Given the description of an element on the screen output the (x, y) to click on. 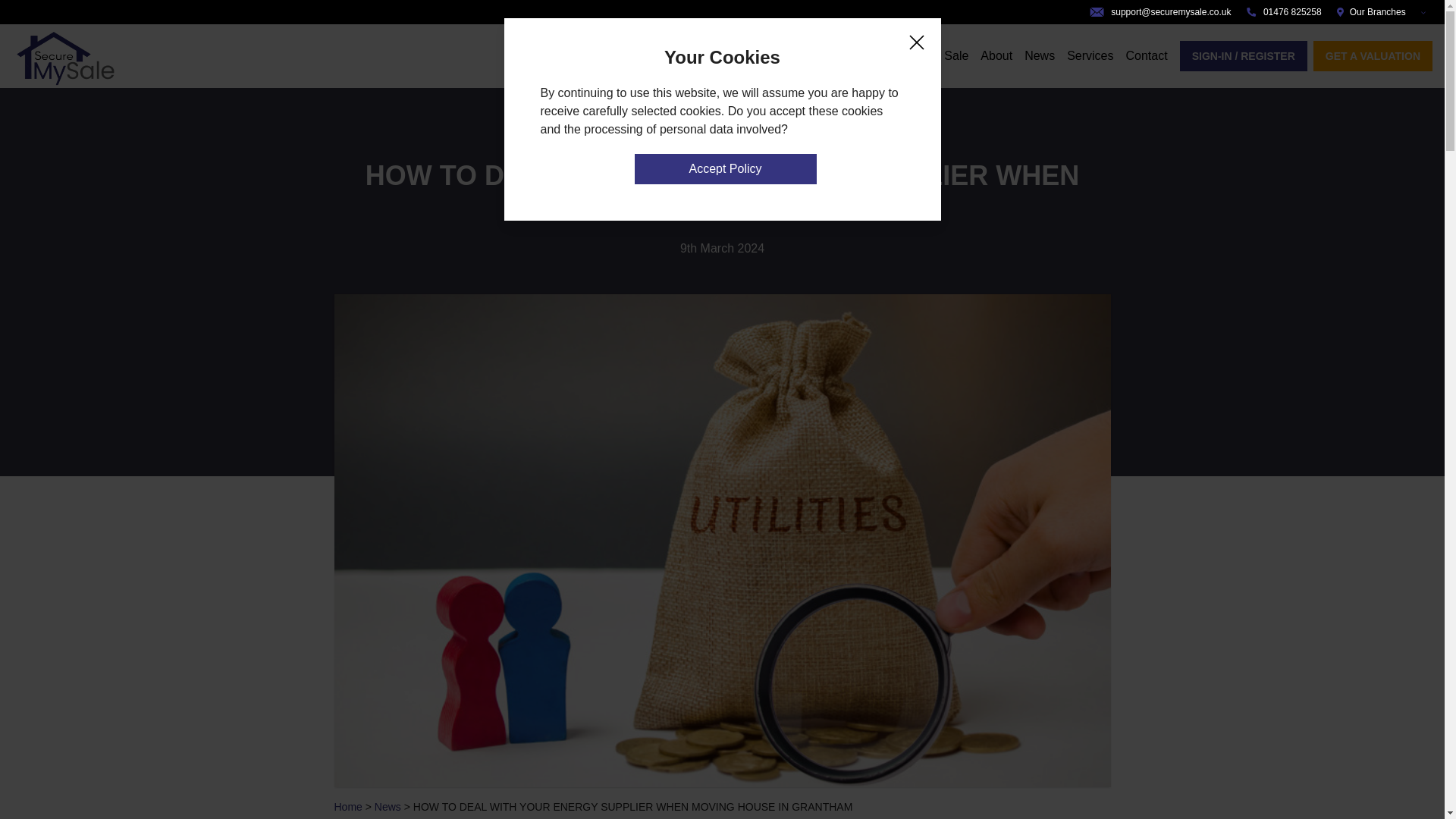
GET A VALUATION (1372, 55)
01476 825258 (1283, 11)
Select for-sale (945, 55)
Back to homepage (64, 55)
Contact (1146, 55)
About (995, 55)
Select news (1039, 55)
Services (1090, 55)
News (387, 806)
Select about (995, 55)
Home (347, 806)
Select services (1090, 55)
For Sale (945, 55)
Select contact (1146, 55)
Our Branches (1384, 11)
